Given the description of an element on the screen output the (x, y) to click on. 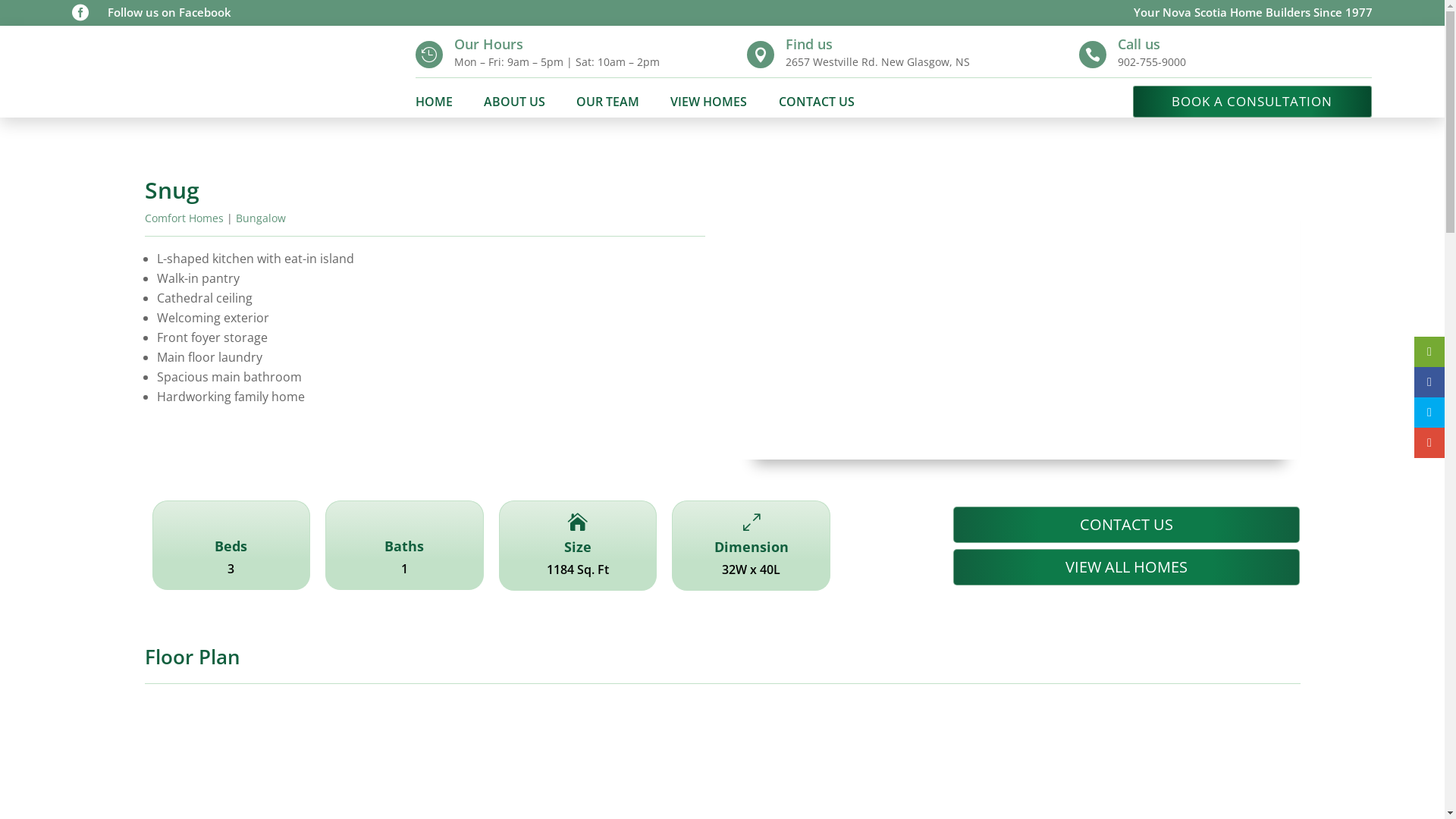
CONTACT US Element type: text (1126, 524)
Bungalow Element type: text (260, 217)
CONTACT US Element type: text (816, 104)
ABOUT US Element type: text (514, 104)
OUR TEAM Element type: text (607, 104)
VIEW HOMES Element type: text (708, 104)
Comfort Homes Element type: text (183, 217)
HOME Element type: text (433, 104)
VIEW ALL HOMES Element type: text (1126, 567)
ah-snug Element type: hover (1019, 319)
BOOK A CONSULTATION Element type: text (1251, 101)
